Given the description of an element on the screen output the (x, y) to click on. 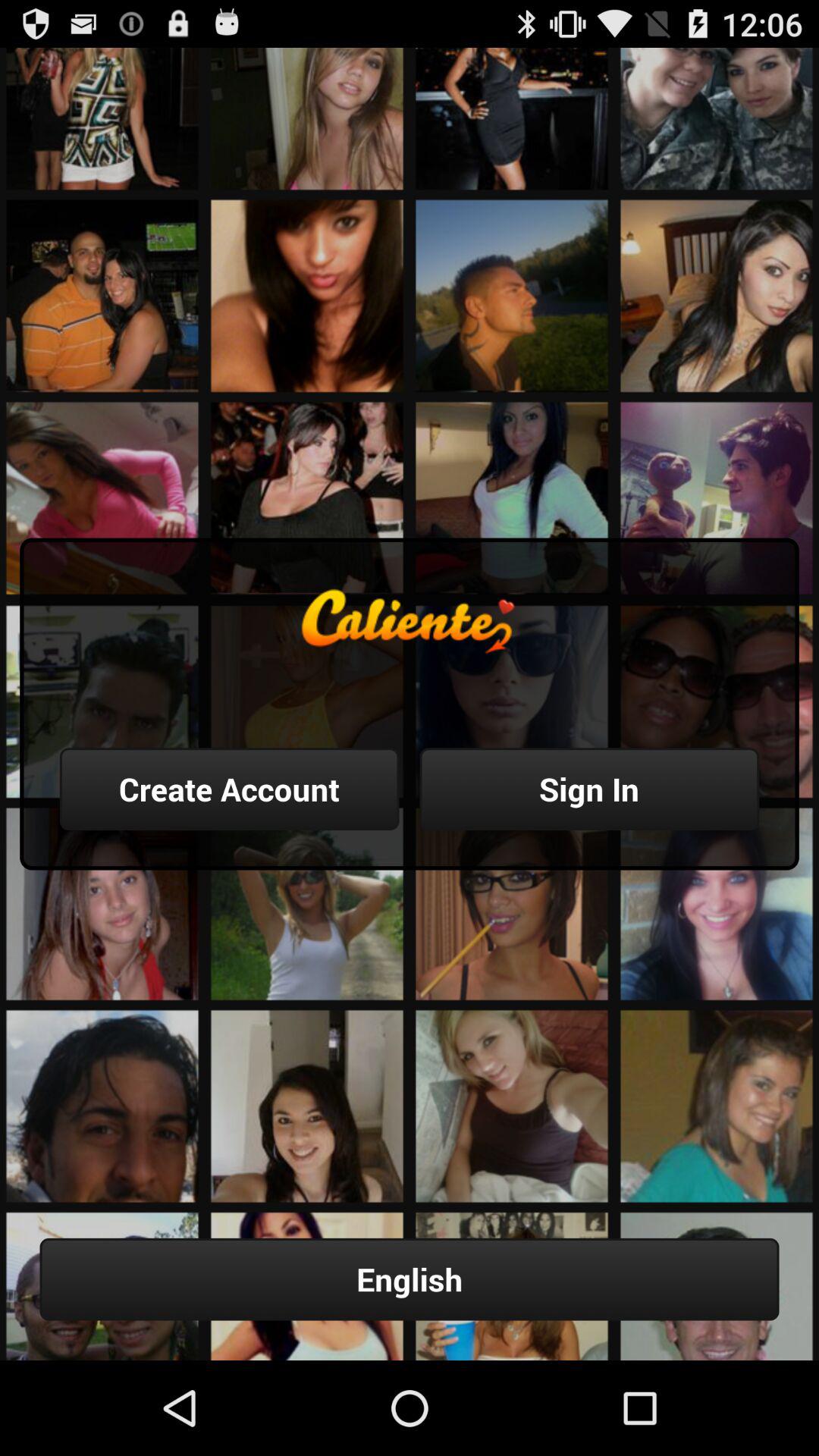
launch english icon (409, 1279)
